Given the description of an element on the screen output the (x, y) to click on. 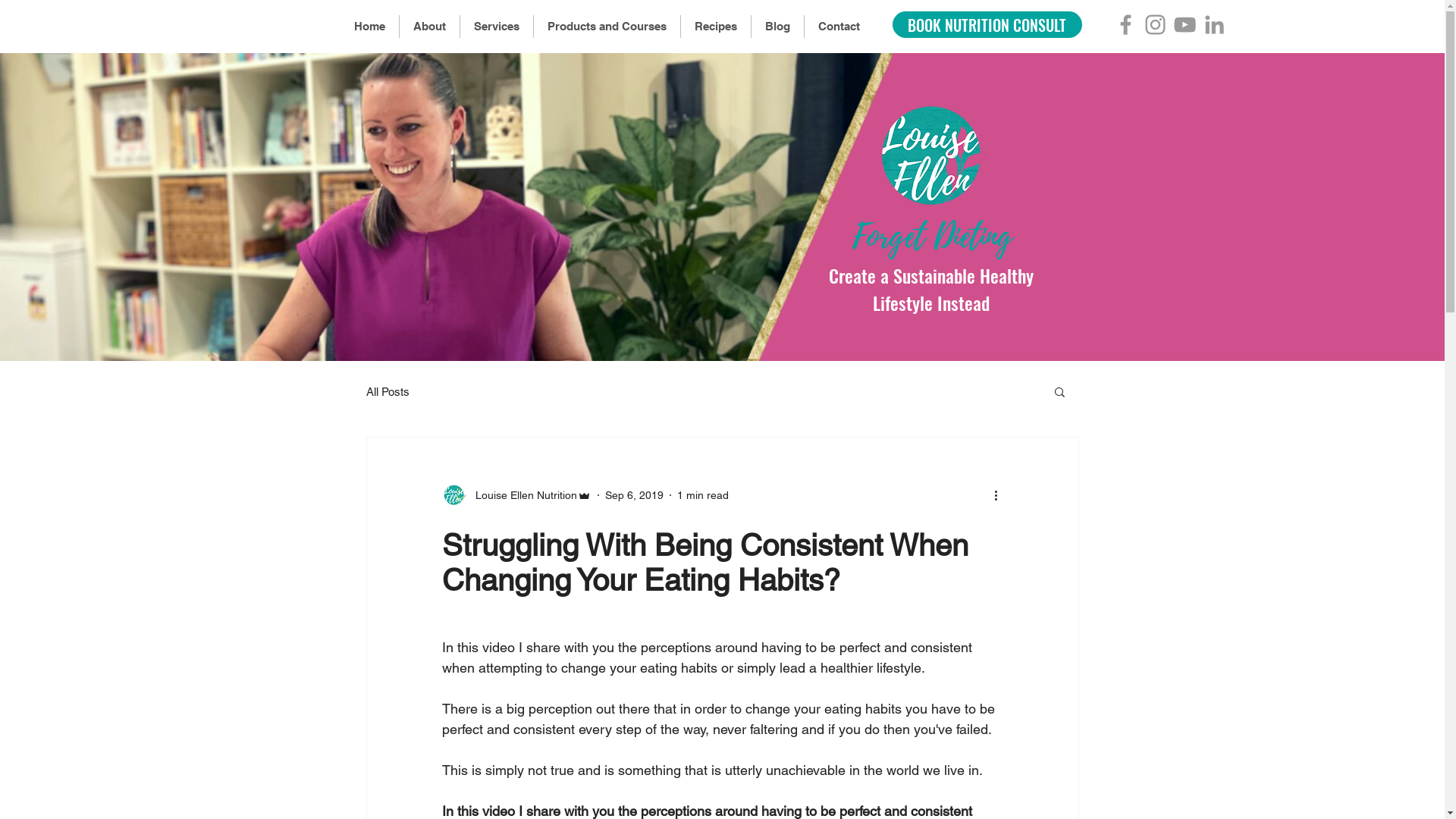
Contact Element type: text (837, 26)
Blog Element type: text (776, 26)
About Element type: text (428, 26)
Services Element type: text (495, 26)
Home Element type: text (368, 26)
Recipes Element type: text (715, 26)
Louise Ellen Nutrition Element type: text (515, 495)
BOOK NUTRITION CONSULT Element type: text (986, 24)
All Posts Element type: text (386, 391)
Products and Courses Element type: text (606, 26)
